Given the description of an element on the screen output the (x, y) to click on. 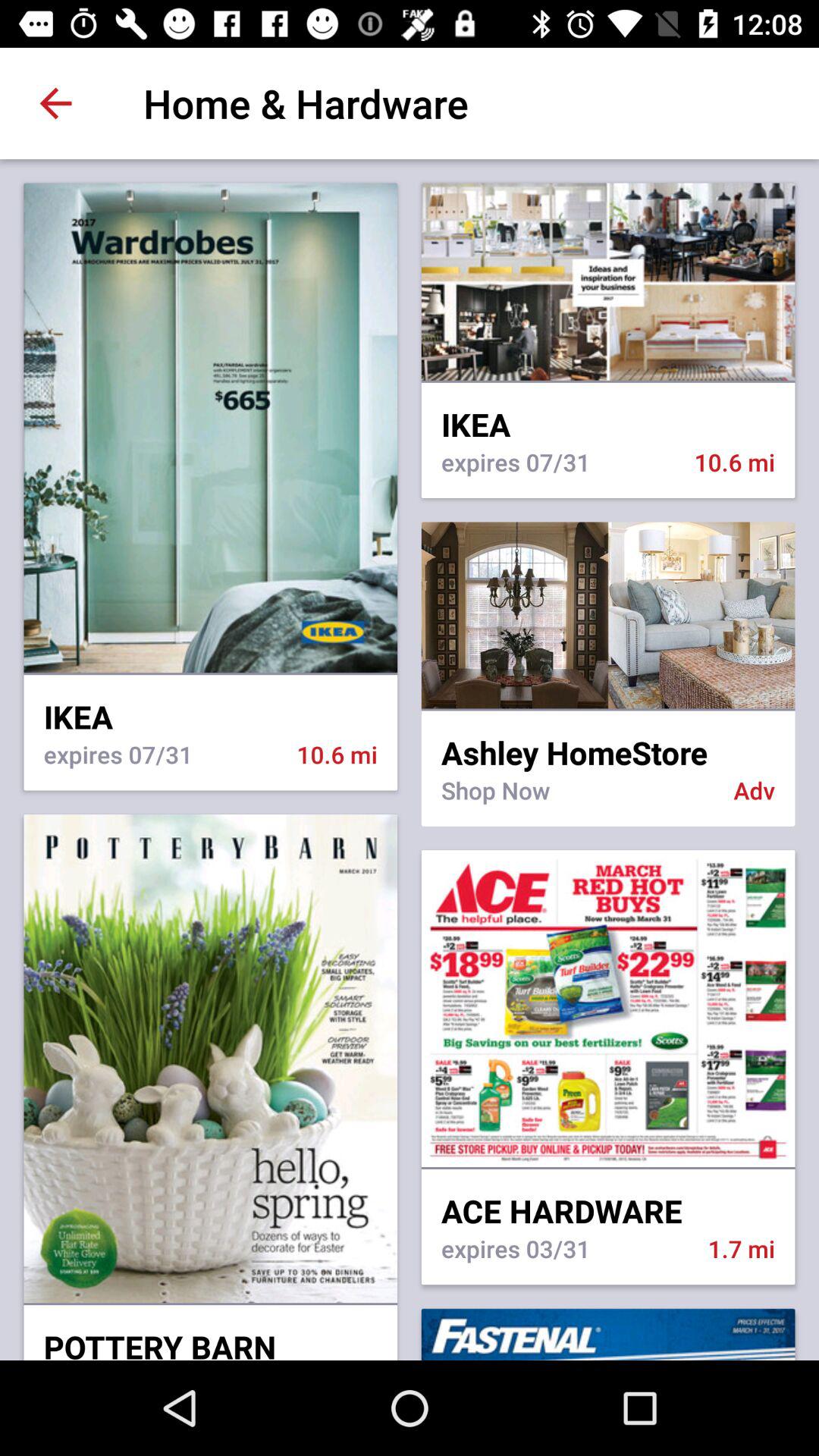
launch item to the left of the home & hardware (55, 103)
